Given the description of an element on the screen output the (x, y) to click on. 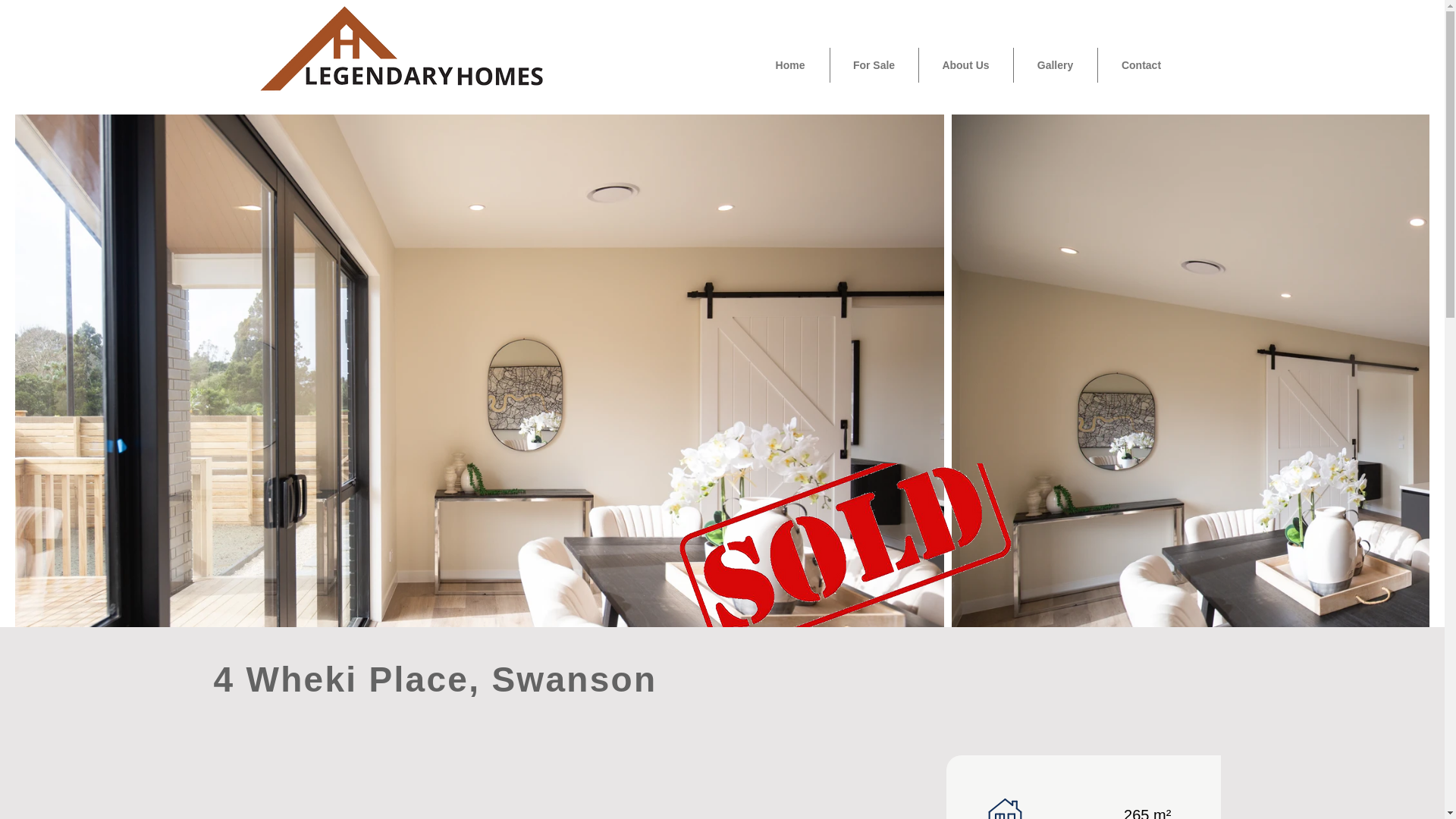
Contact (1141, 64)
For Sale (873, 64)
Home (789, 64)
About Us (965, 64)
Gallery (1054, 64)
